Given the description of an element on the screen output the (x, y) to click on. 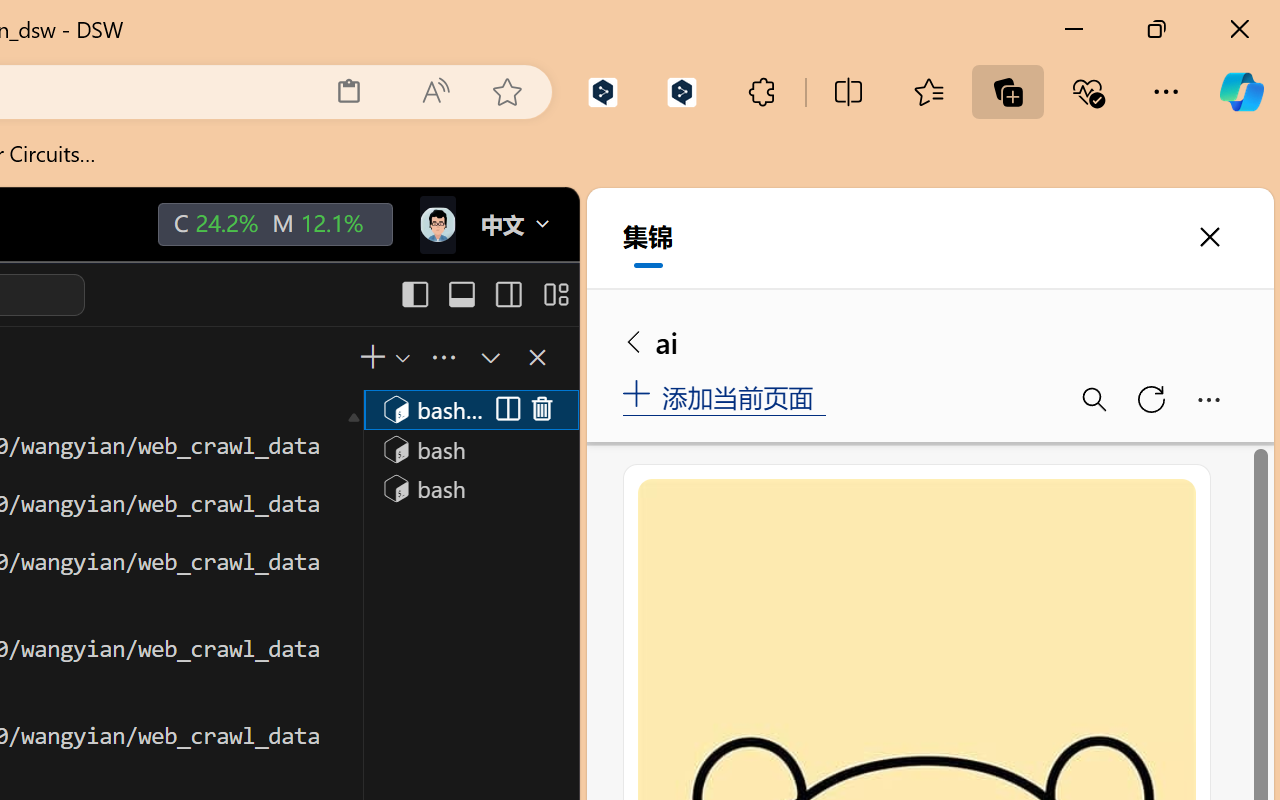
Launch Profile... (401, 357)
Toggle Primary Side Bar (Ctrl+B) (413, 294)
Toggle Panel (Ctrl+J) (461, 294)
Class: next-menu next-hoz widgets--iconMenu--BFkiHRM (436, 225)
icon (436, 220)
Toggle Secondary Side Bar (Ctrl+Alt+B) (506, 294)
Copilot (Ctrl+Shift+.) (1241, 91)
